Given the description of an element on the screen output the (x, y) to click on. 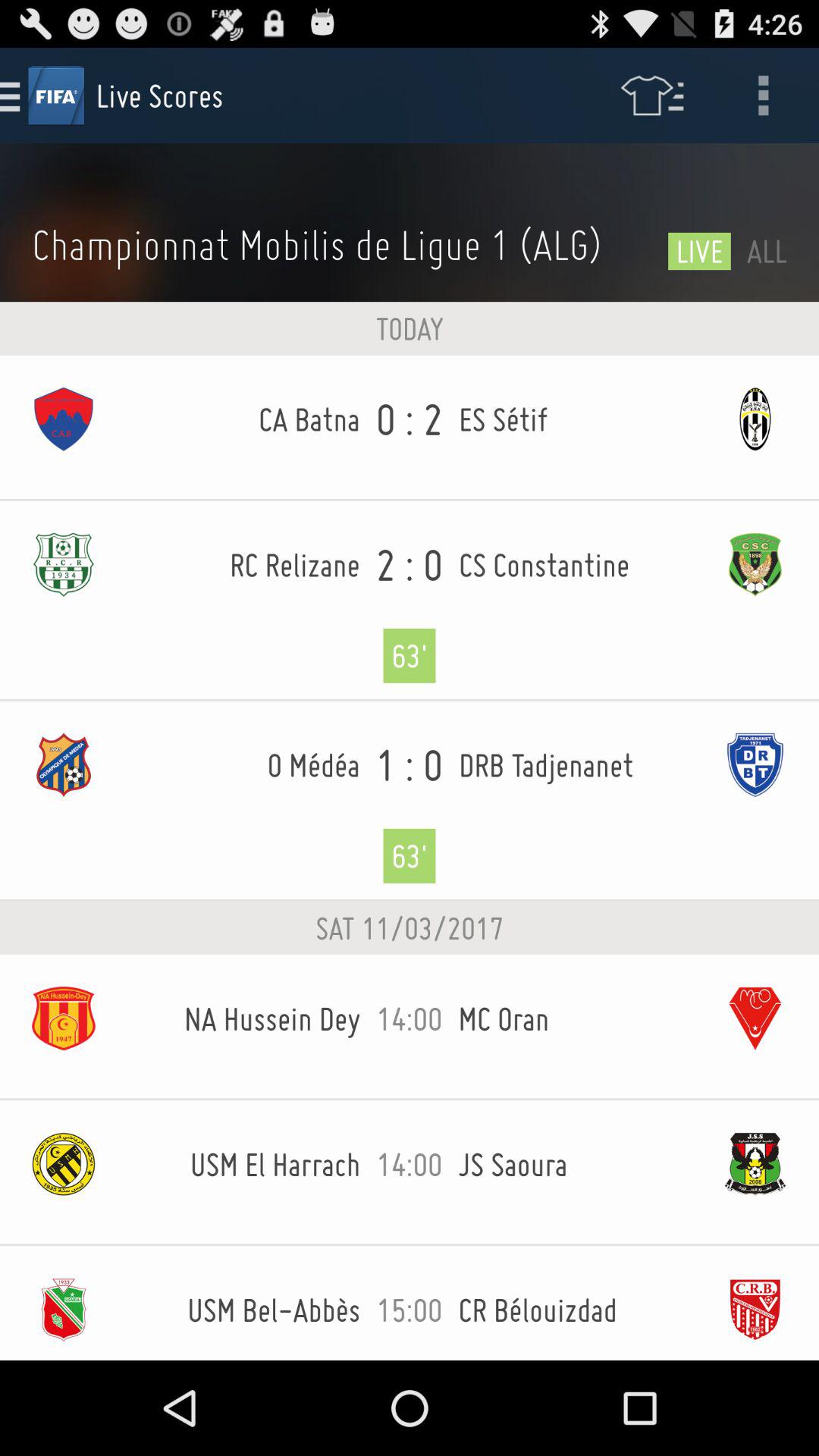
jump to the js saoura icon (574, 1163)
